Given the description of an element on the screen output the (x, y) to click on. 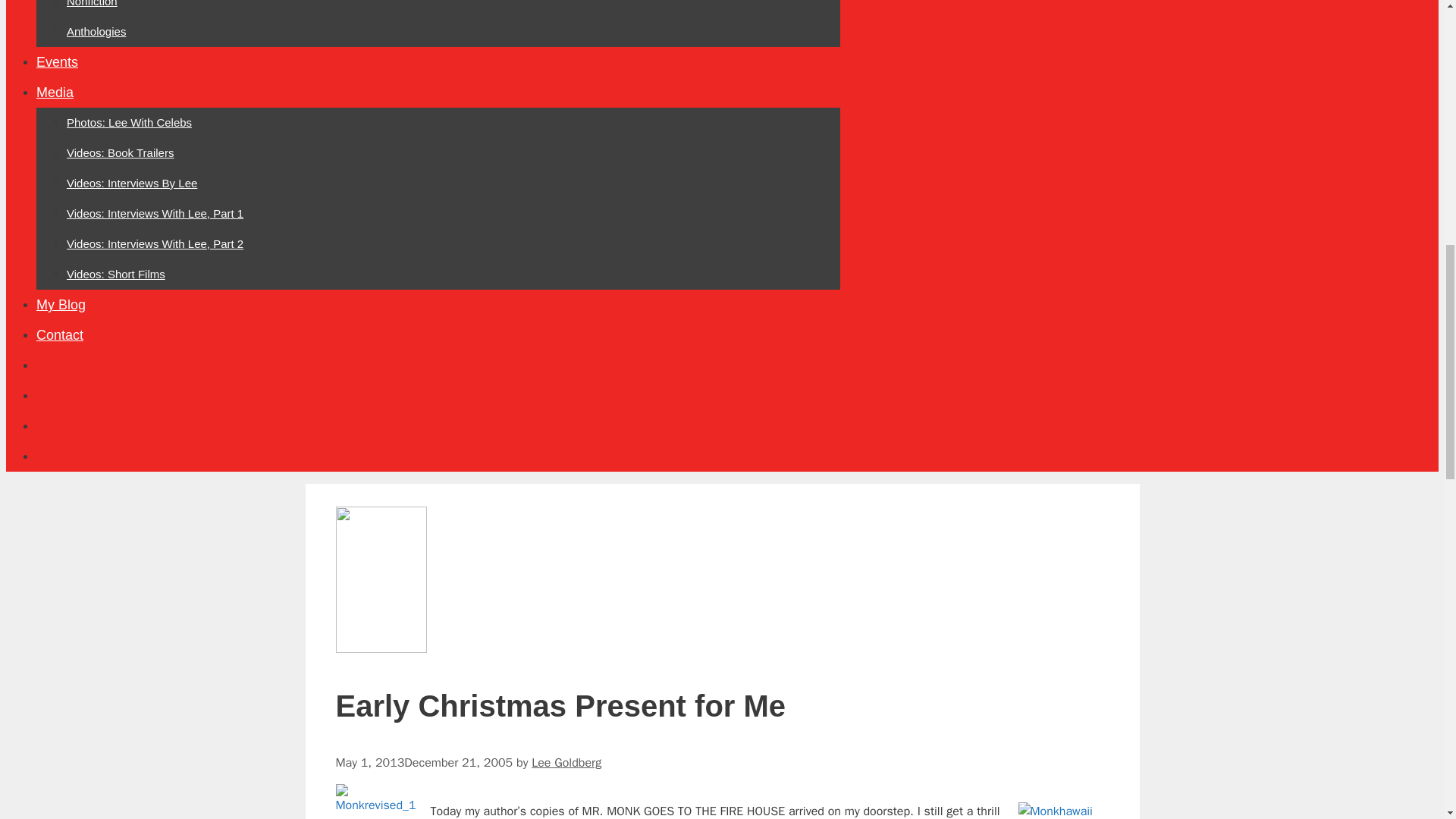
Videos: Interviews By Lee (131, 182)
Monkhawaii (1062, 810)
Anthologies (95, 31)
Lee Goldberg (566, 762)
Photos: Lee With Celebs (129, 122)
Videos: Interviews With Lee, Part 1 (154, 213)
Videos: Interviews With Lee, Part 2 (154, 243)
Nonfiction (91, 3)
My Blog (60, 304)
View all posts by Lee Goldberg (566, 762)
Media (55, 92)
Events (57, 61)
Contact (59, 335)
Videos: Book Trailers (119, 152)
Videos: Short Films (115, 273)
